Given the description of an element on the screen output the (x, y) to click on. 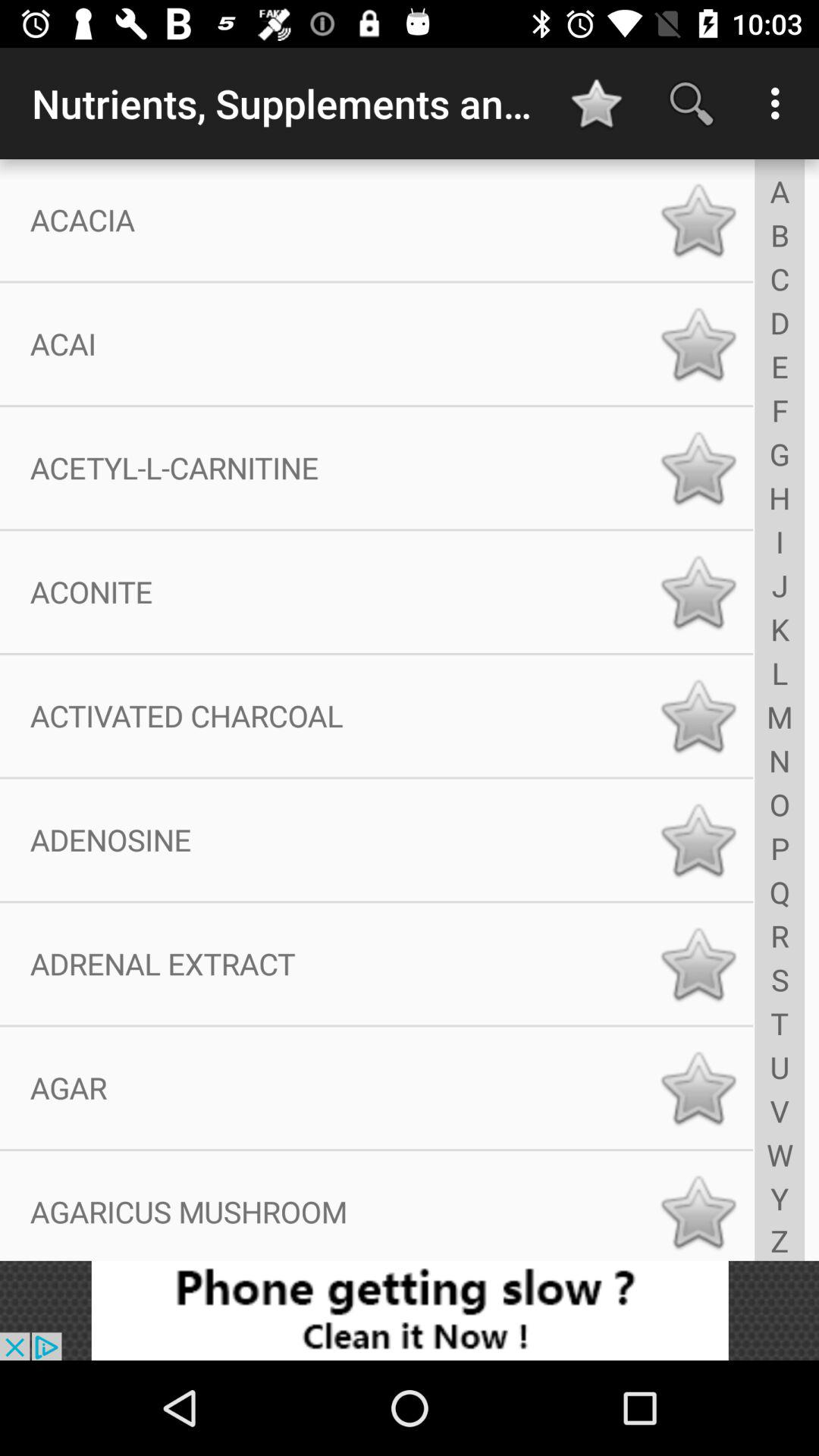
favorite (697, 592)
